Given the description of an element on the screen output the (x, y) to click on. 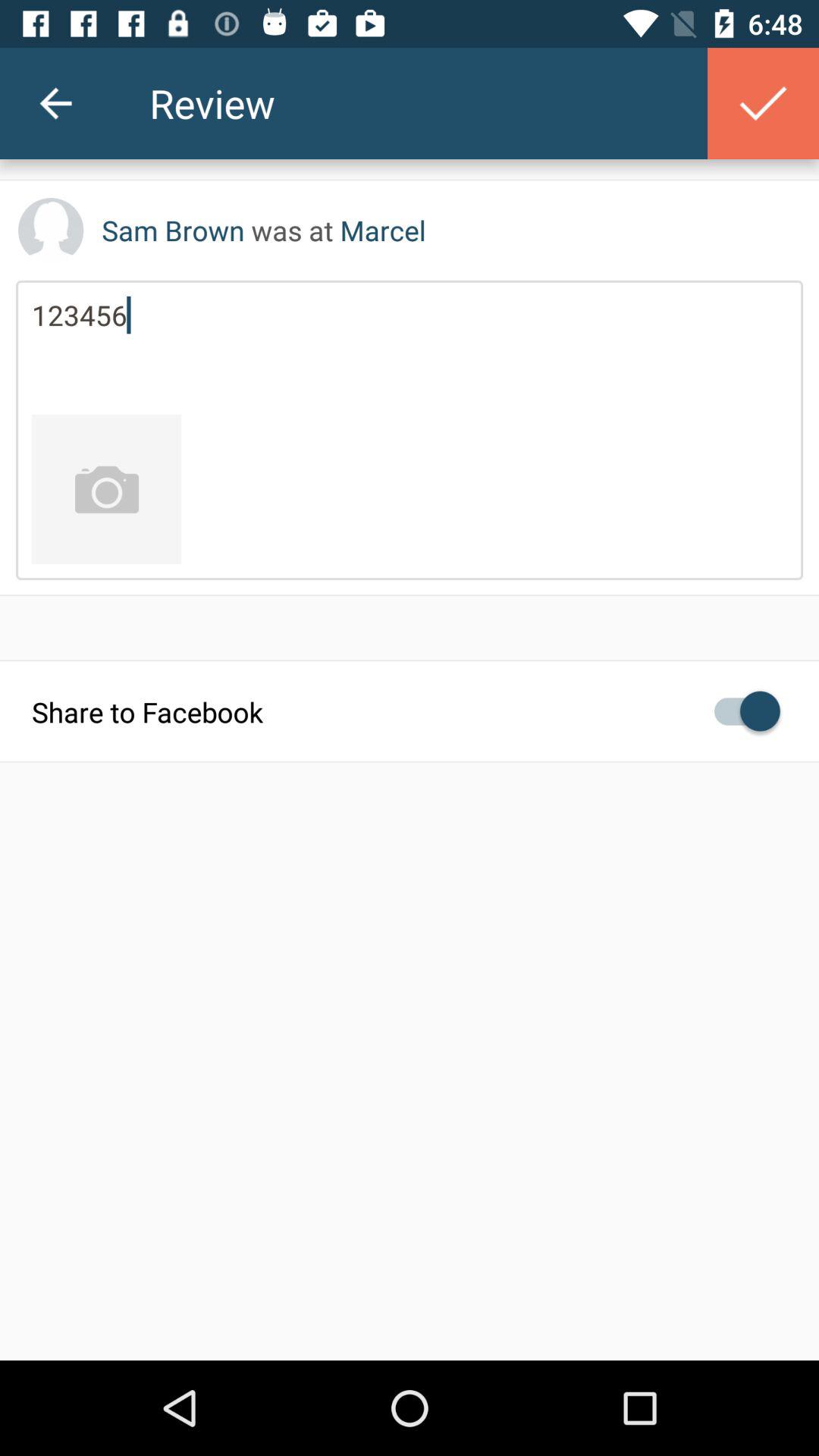
click share to facebook at the center (409, 710)
